Given the description of an element on the screen output the (x, y) to click on. 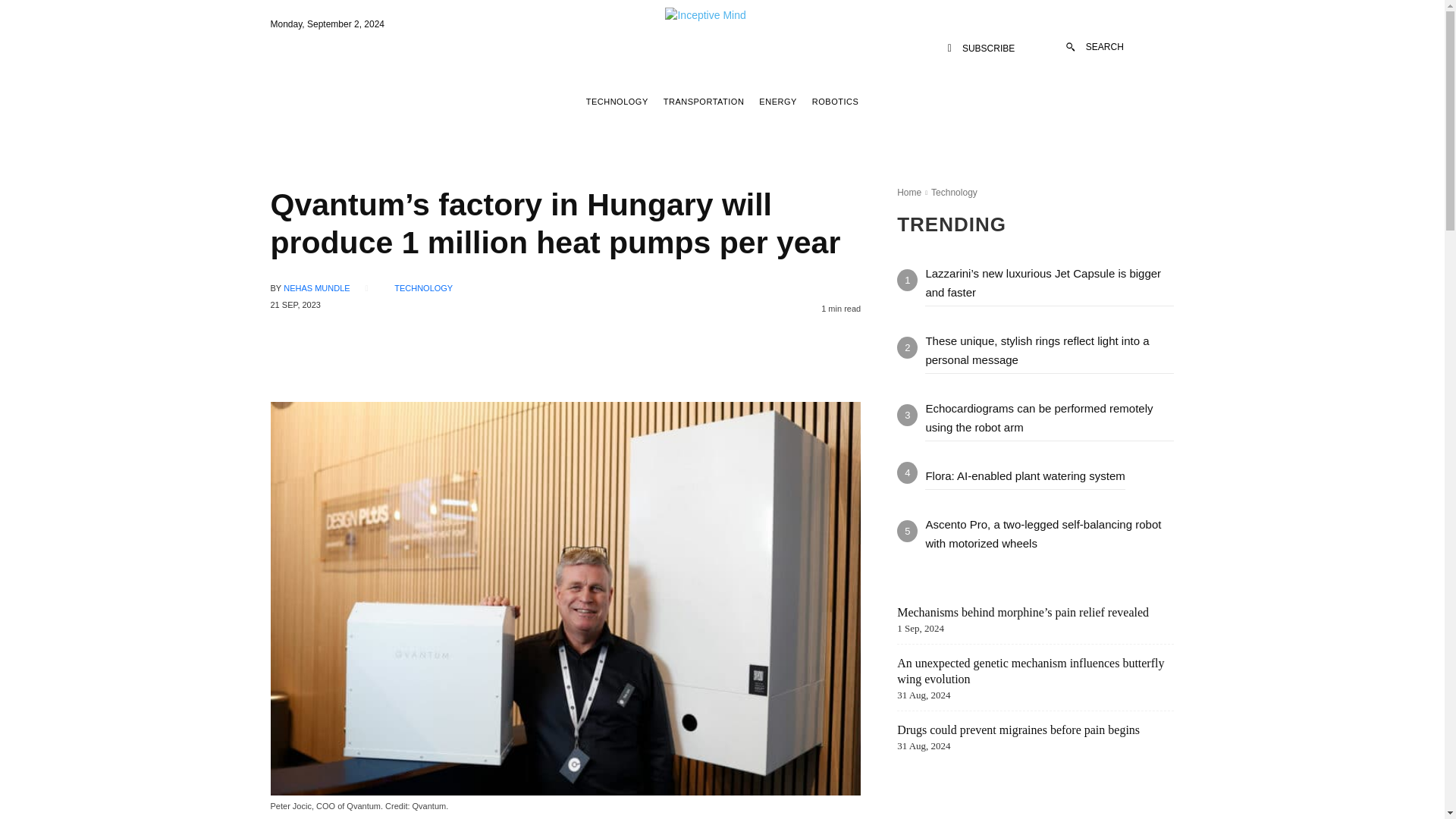
NEHAS MUNDLE (316, 288)
TRANSPORTATION (703, 101)
Home (908, 192)
ROBOTICS (834, 101)
Technology (953, 192)
View all posts in Technology (953, 192)
SUBSCRIBE (980, 48)
